Given the description of an element on the screen output the (x, y) to click on. 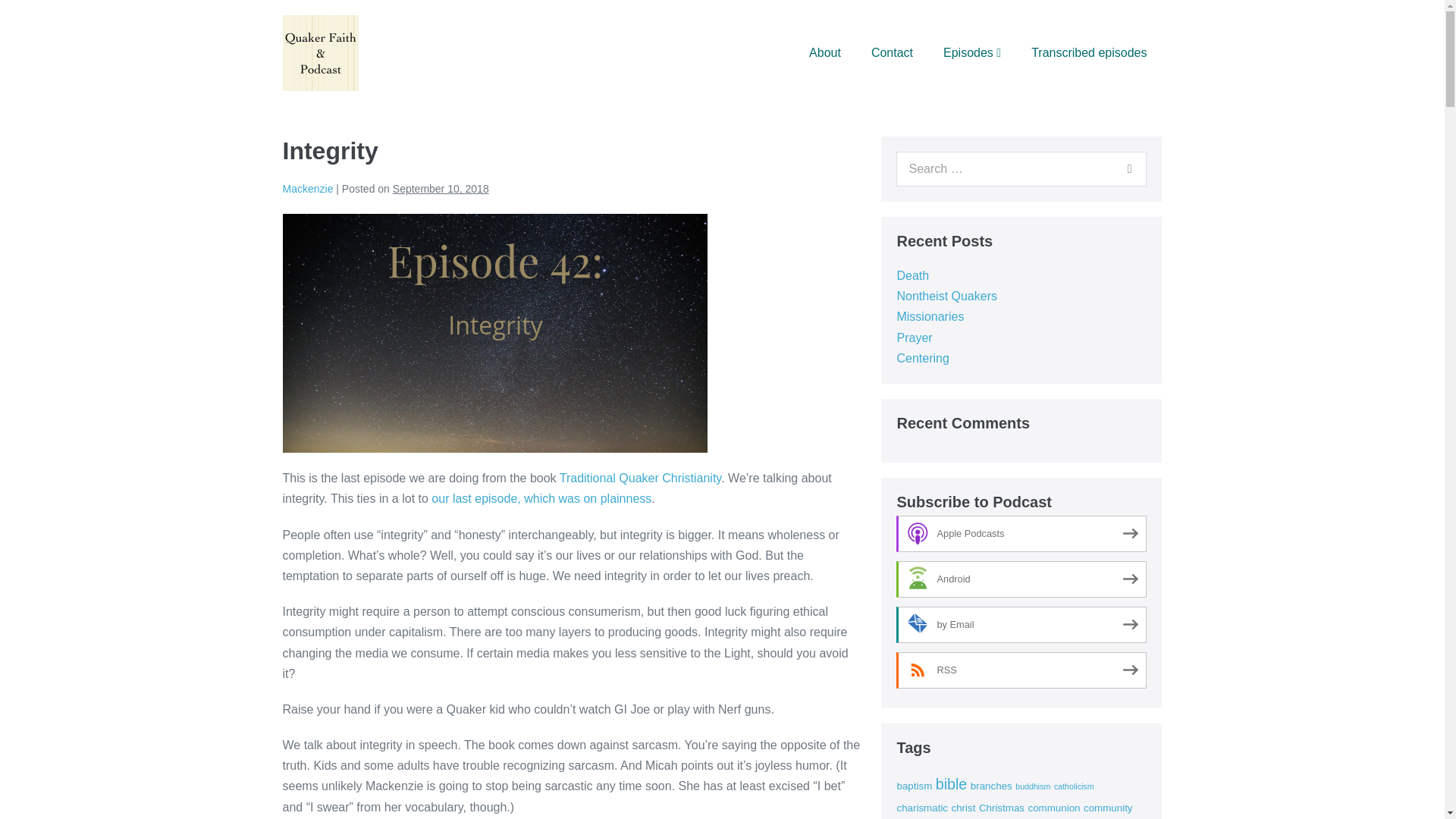
Subscribe on Apple Podcasts (1021, 533)
View all posts by Mackenzie (307, 188)
Mackenzie (307, 188)
Centering (922, 358)
Subscribe via RSS (1021, 669)
Contact (892, 52)
Episodes (972, 52)
Transcribed episodes (1088, 52)
Missionaries (929, 316)
Android (1021, 579)
Subscribe by Email (1021, 624)
About (824, 52)
Apple Podcasts (1021, 533)
Nontheist Quakers (946, 295)
Traditional Quaker Christianity (639, 477)
